Given the description of an element on the screen output the (x, y) to click on. 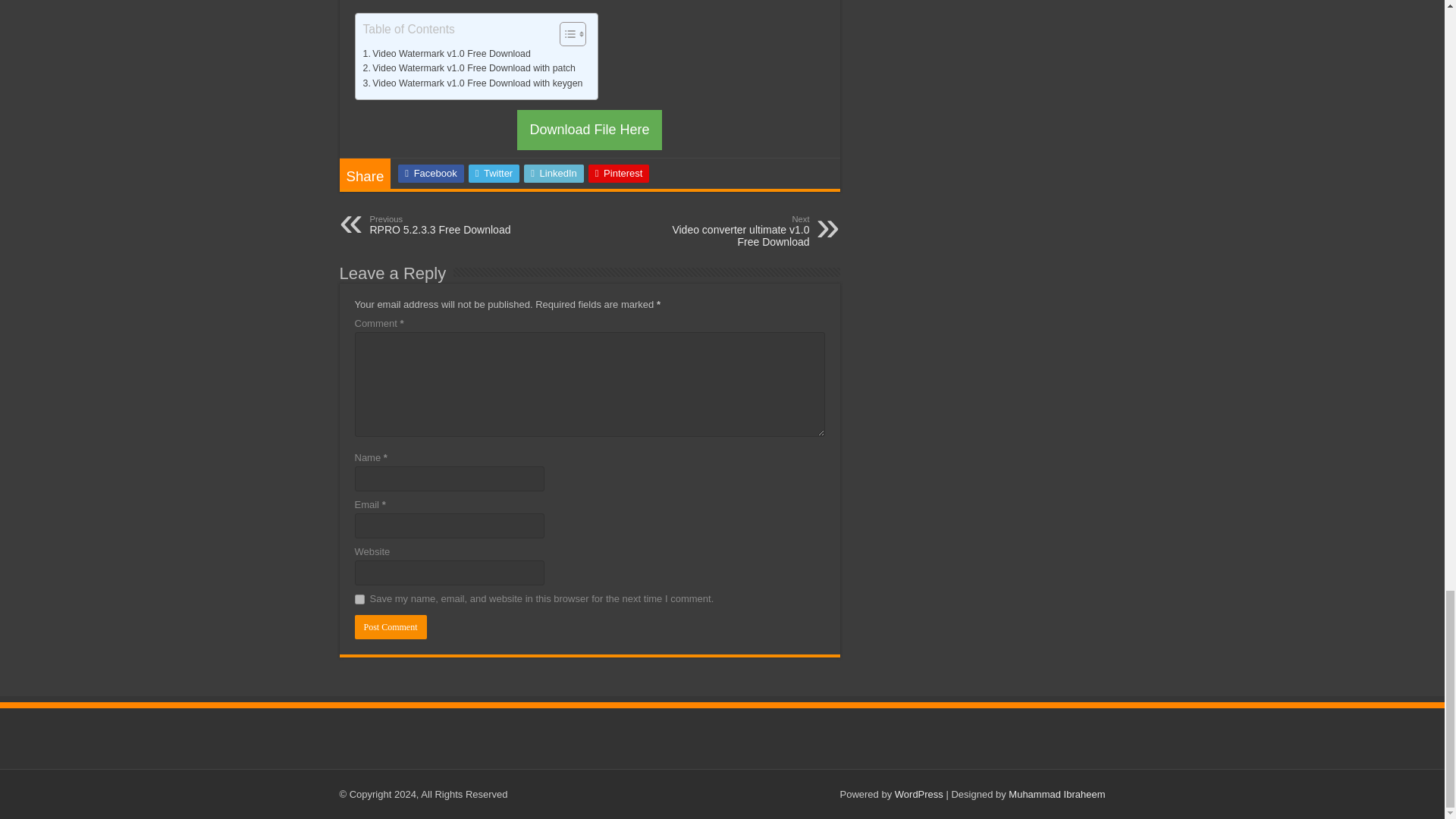
Video Watermark v1.0 Free Download with patch (468, 68)
yes (360, 599)
Download File Here (588, 129)
Video Watermark v1.0 Free Download (445, 54)
Post Comment (390, 627)
Video Watermark v1.0 Free Download with keygen (472, 83)
